Given the description of an element on the screen output the (x, y) to click on. 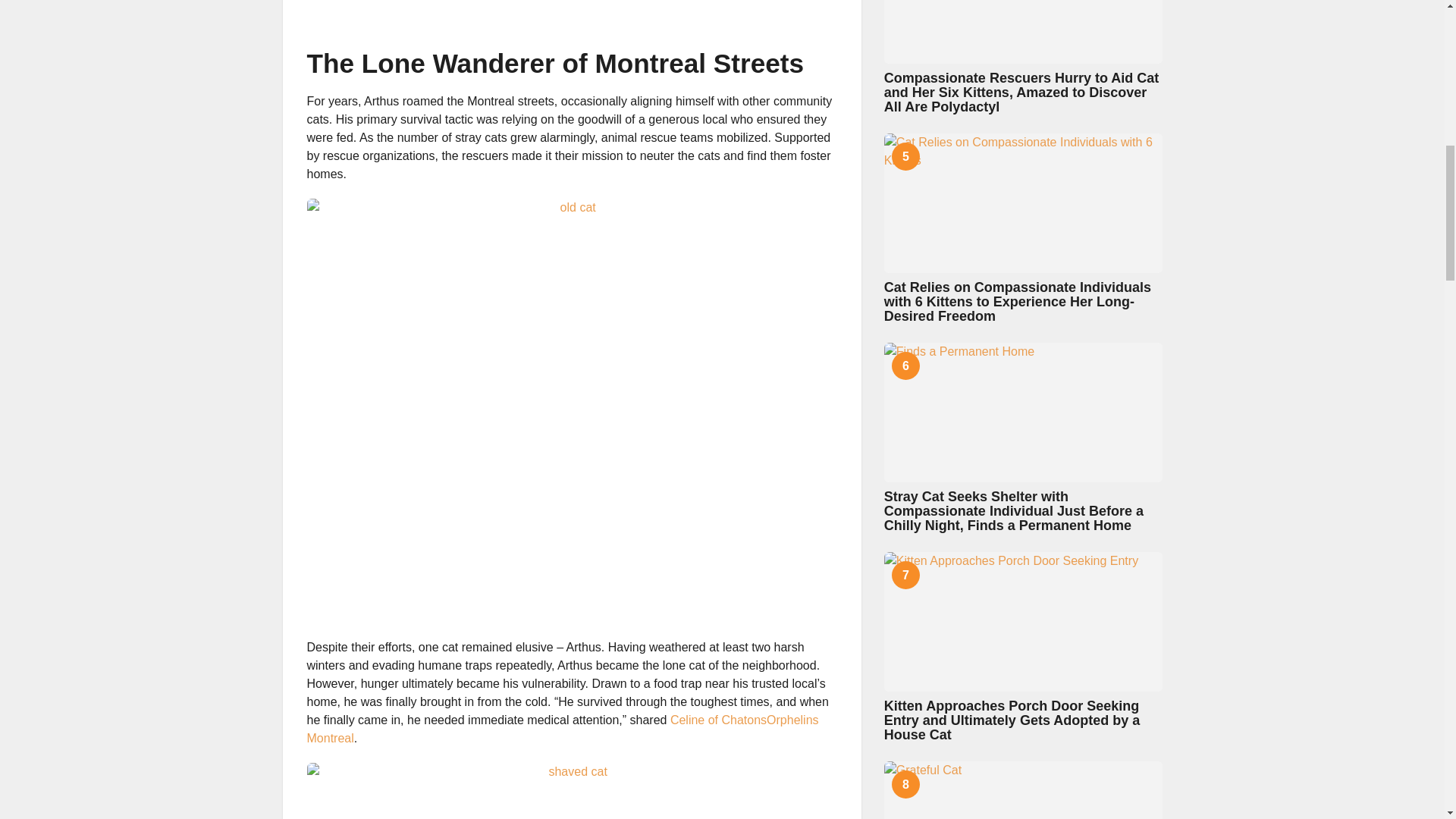
Celine of ChatonsOrphelins Montreal (561, 728)
